Given the description of an element on the screen output the (x, y) to click on. 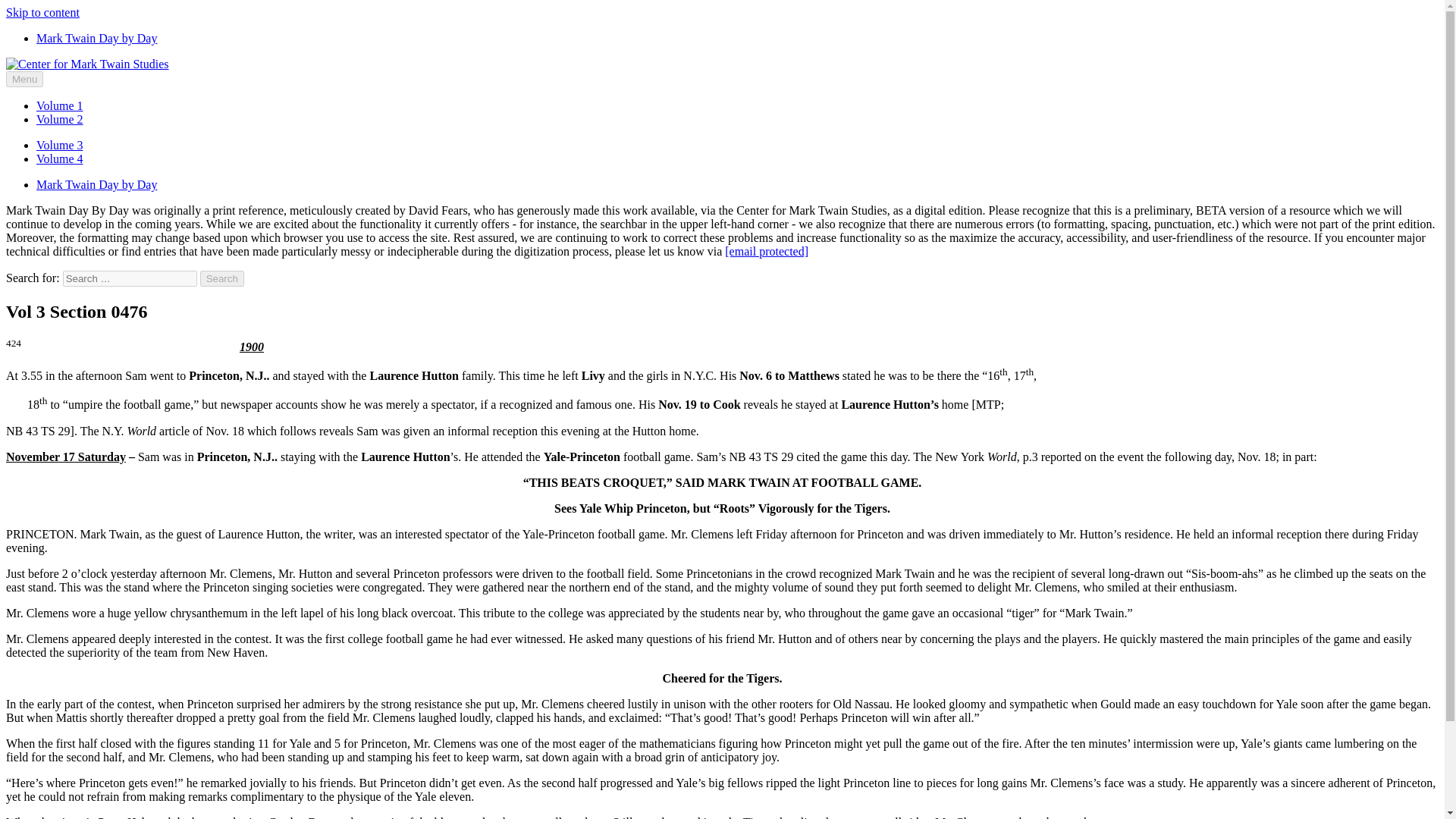
Mark Twain Day by Day (96, 38)
Volume 1 (59, 105)
Skip to content (42, 11)
Mark Twain Day by Day (96, 184)
Volume 4 (59, 158)
Mark Twain Day By Day (67, 89)
Volume 2 (59, 119)
Menu (24, 78)
Search (222, 278)
Volume 3 (59, 144)
